Given the description of an element on the screen output the (x, y) to click on. 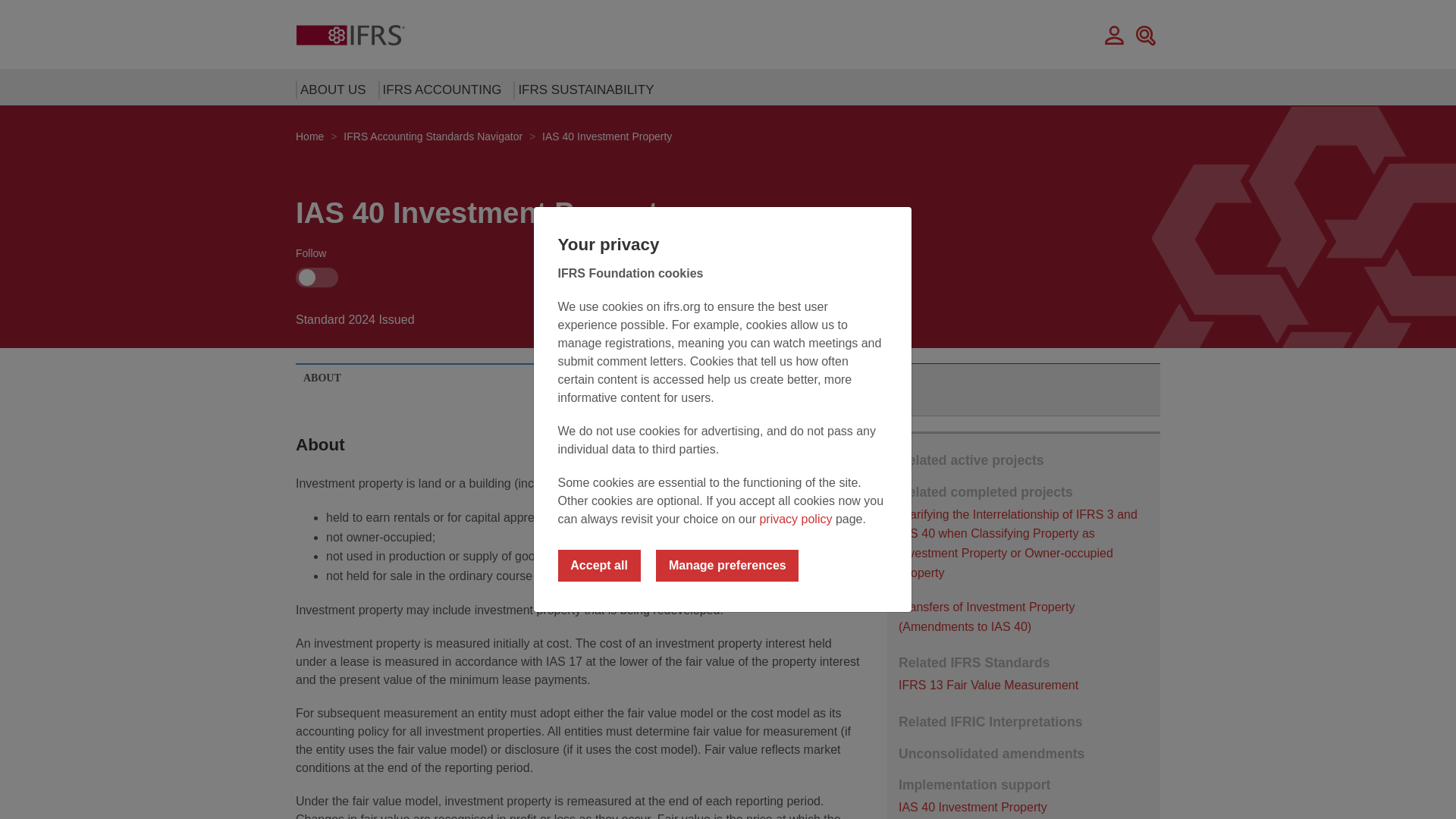
ABOUT US (329, 89)
IFRS SUSTAINABILITY (581, 89)
Dashboard (1114, 34)
IFRS ACCOUNTING (438, 89)
IFRS Home Page (350, 34)
